Given the description of an element on the screen output the (x, y) to click on. 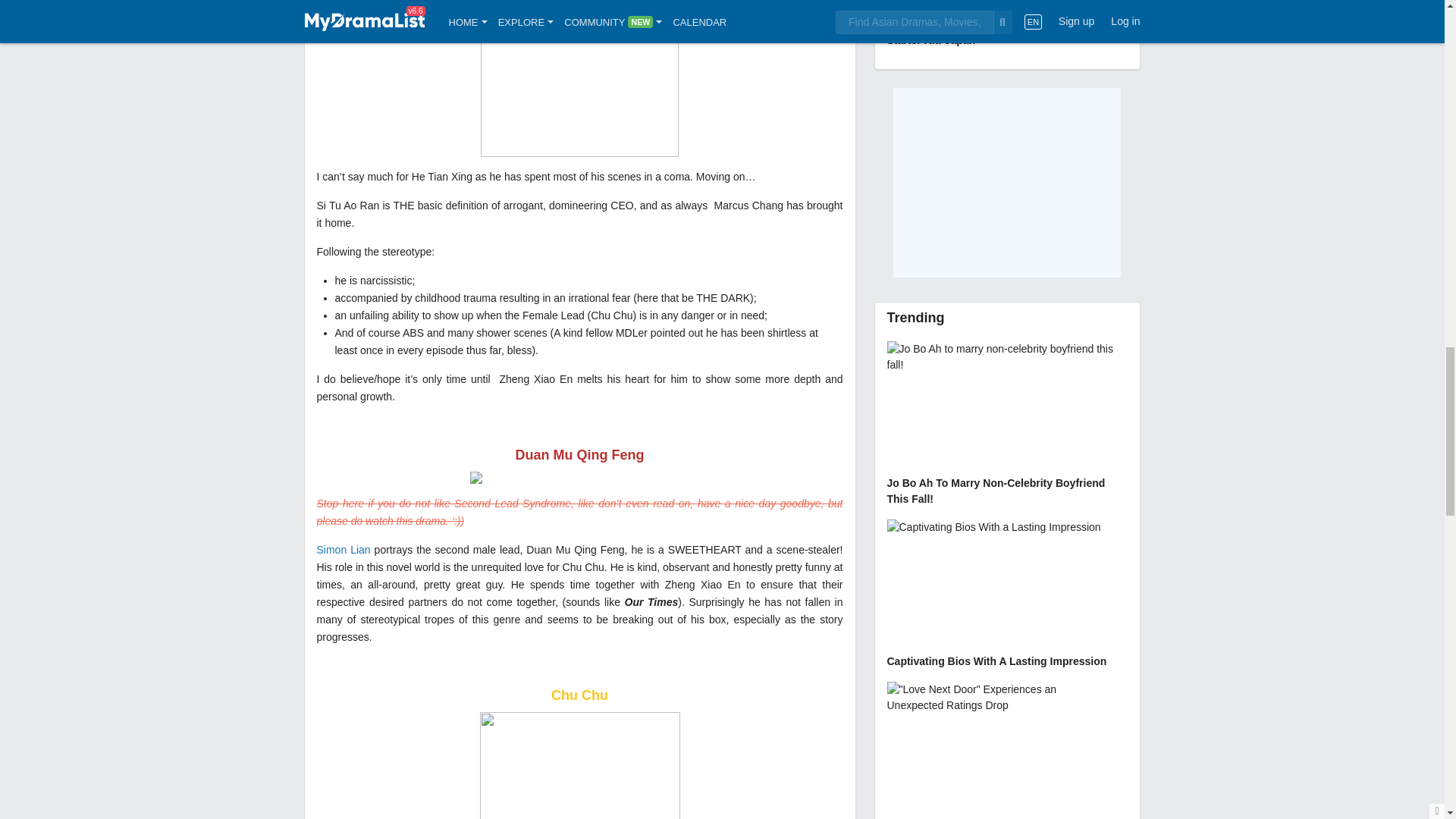
Starter Kit: Japan (1007, 25)
Captivating Bios With a Lasting Impression (1007, 595)
Jo Bo Ah to marry non-celebrity boyfriend this fall! (1007, 425)
